Given the description of an element on the screen output the (x, y) to click on. 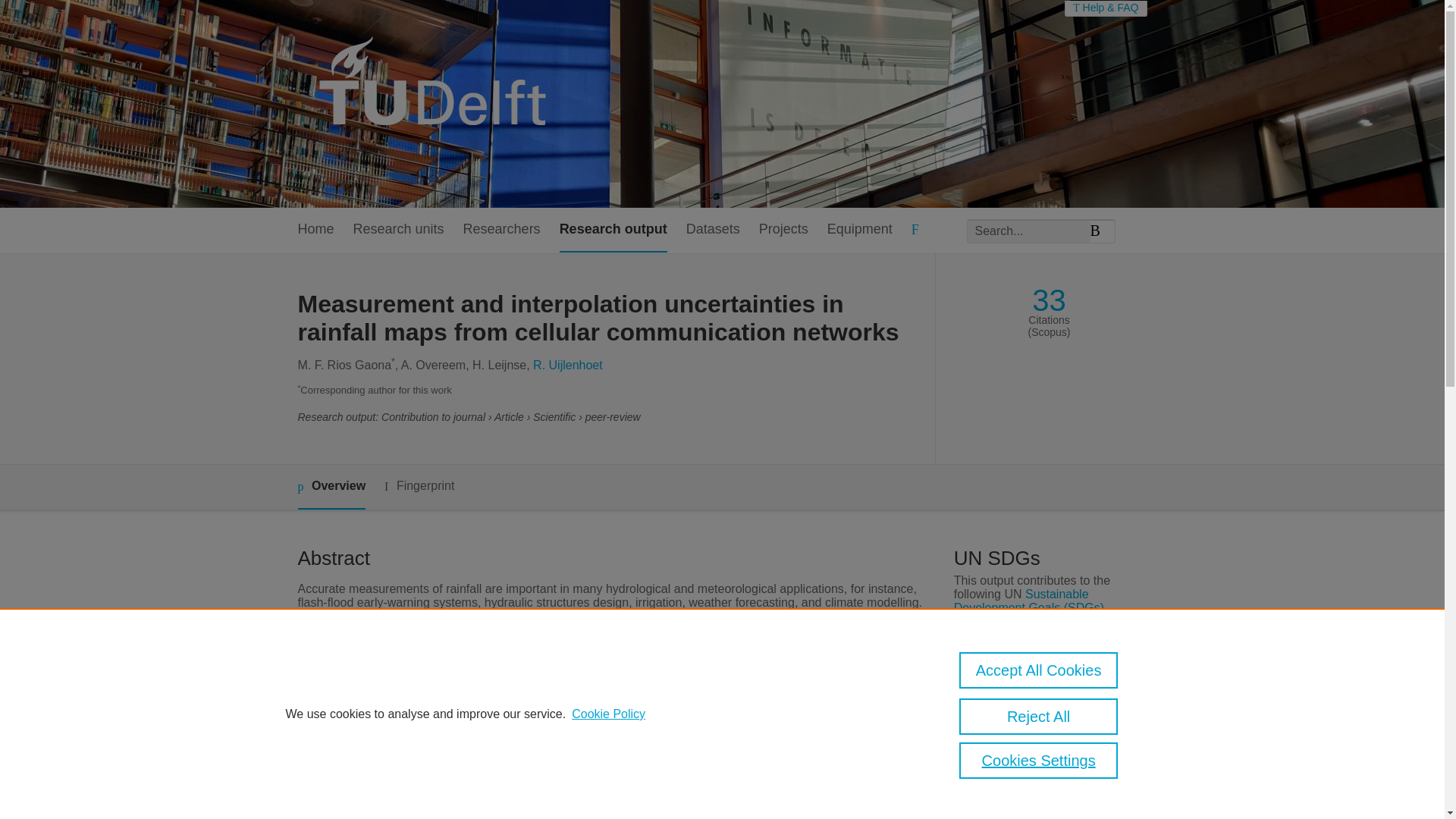
TU Delft Research Portal Home (438, 103)
R. Uijlenhoet (567, 364)
Overview (331, 487)
Research output (612, 230)
SDG 13 - Climate Action (972, 637)
Research units (398, 230)
Researchers (501, 230)
Projects (783, 230)
Equipment (859, 230)
Link to publication in Scopus (1045, 761)
